Given the description of an element on the screen output the (x, y) to click on. 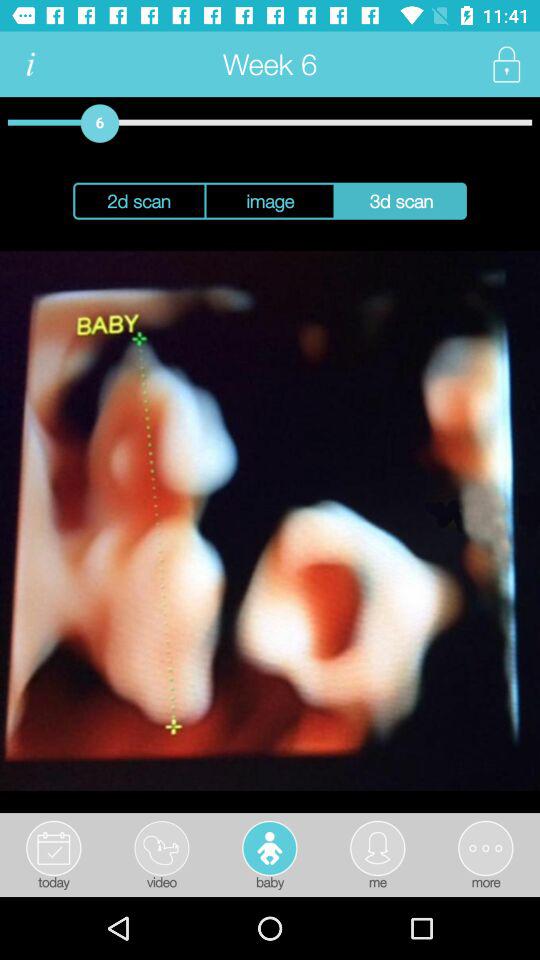
more information (30, 63)
